Given the description of an element on the screen output the (x, y) to click on. 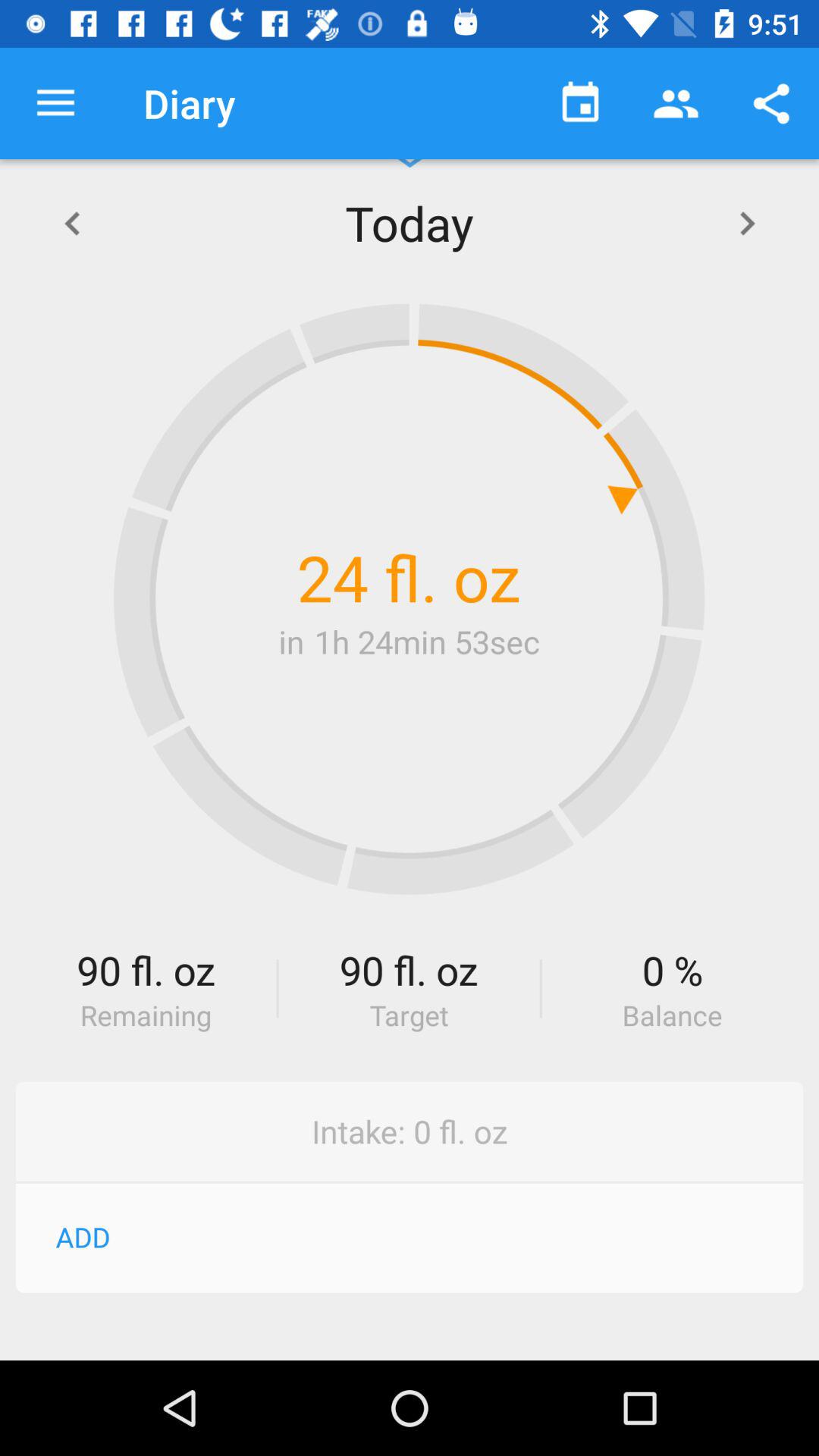
click item above the 90 fl. oz (408, 598)
